Given the description of an element on the screen output the (x, y) to click on. 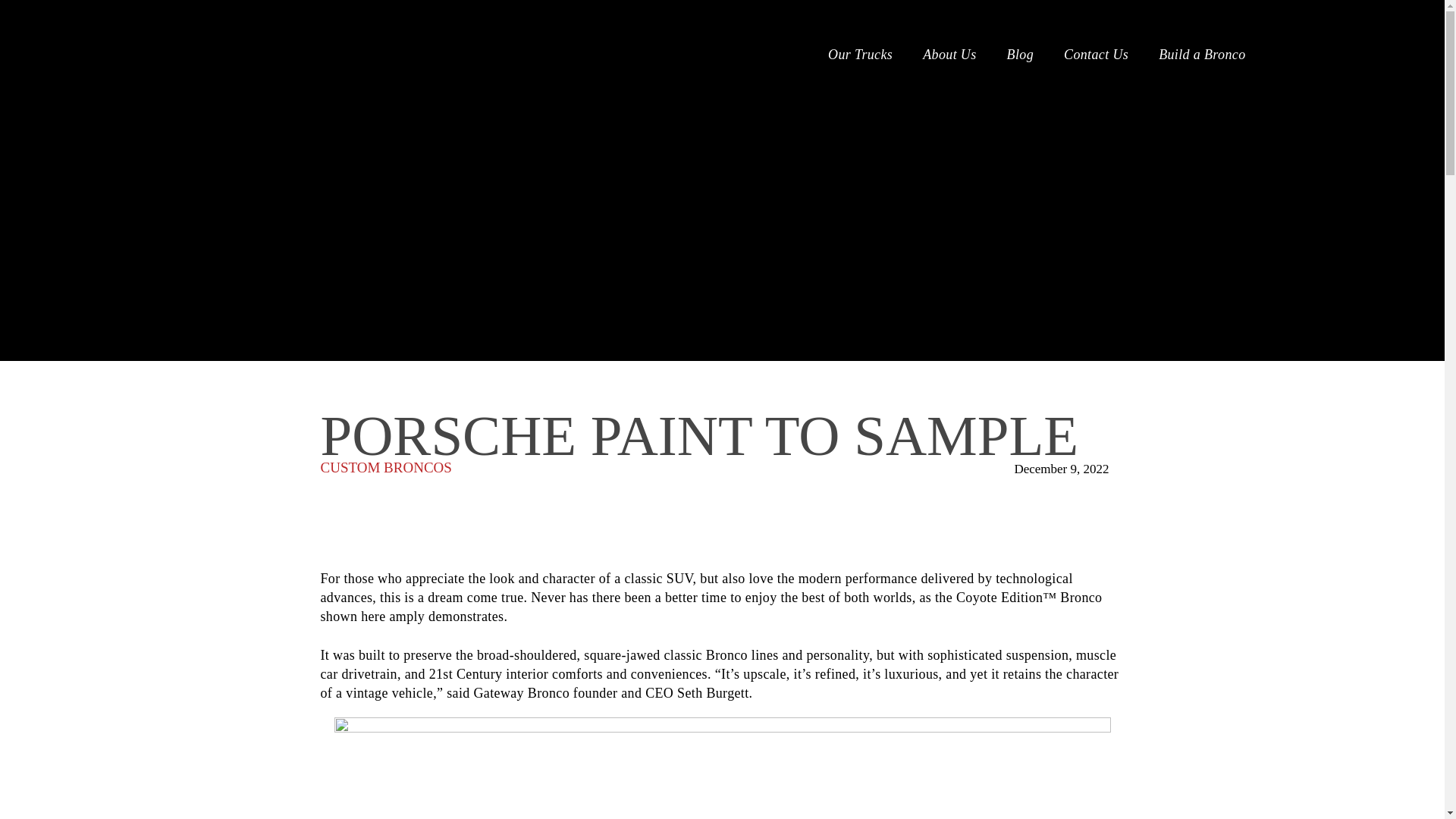
Contact Us (1096, 54)
Our Trucks (860, 54)
About Us (949, 54)
Build a Bronco (1224, 54)
Blog (1020, 54)
